Given the description of an element on the screen output the (x, y) to click on. 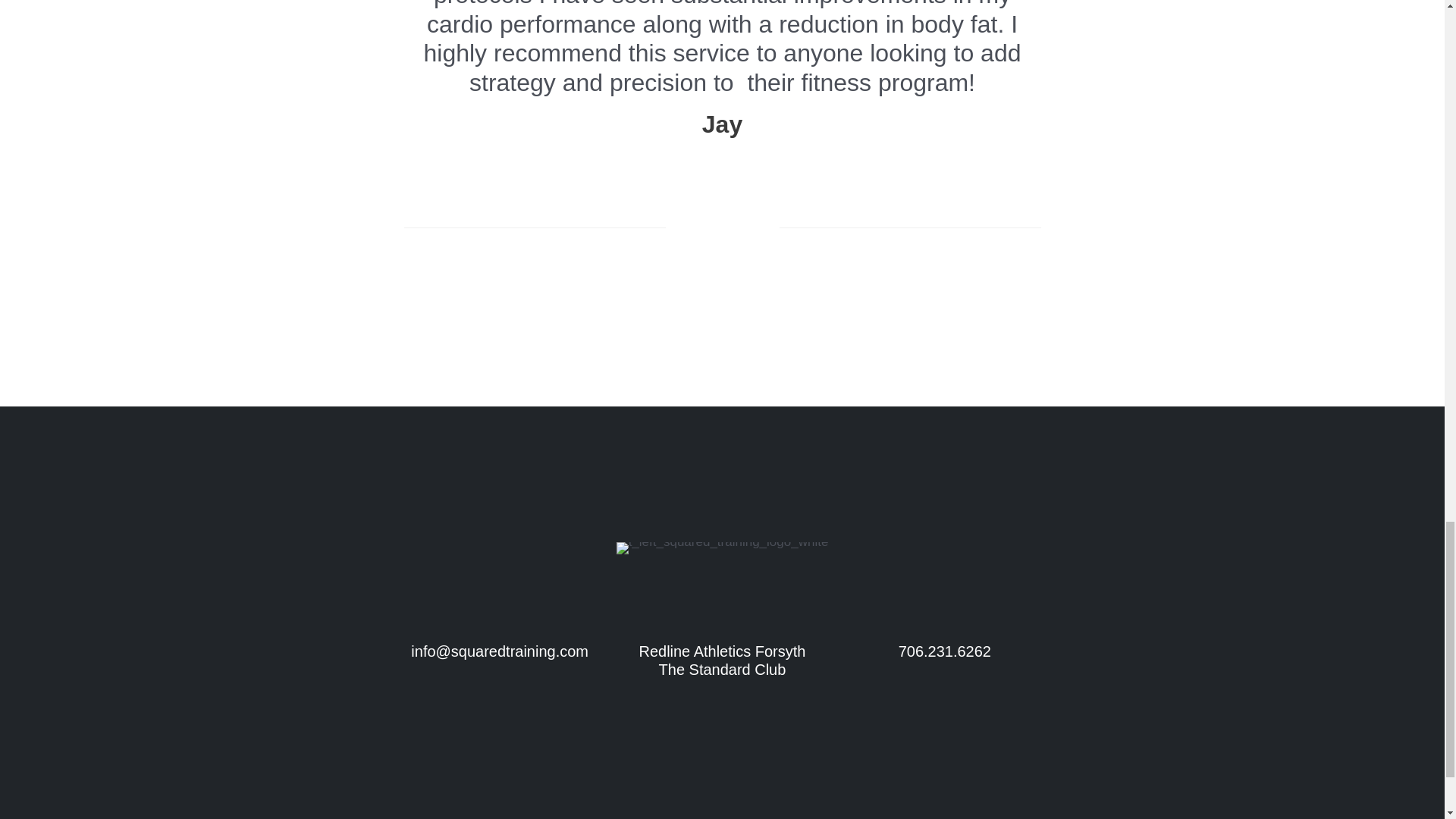
Redline Athletics Forsyth (722, 651)
706.231.6262 (944, 651)
The Standard Club (722, 669)
